Given the description of an element on the screen output the (x, y) to click on. 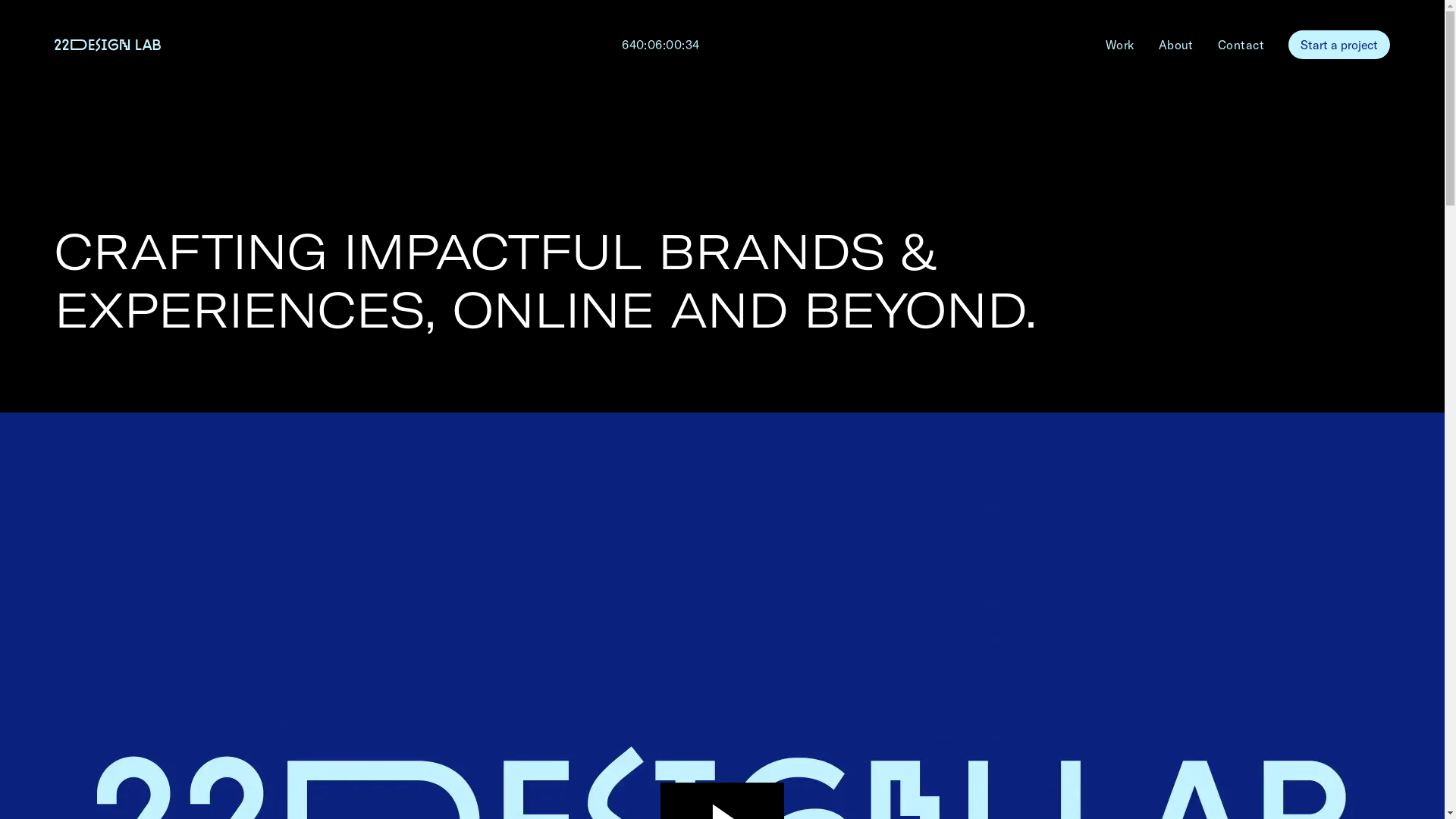
Start a project Element type: text (1339, 44)
Contact Element type: text (1240, 44)
Work Element type: text (1119, 44)
About Element type: text (1175, 44)
